Given the description of an element on the screen output the (x, y) to click on. 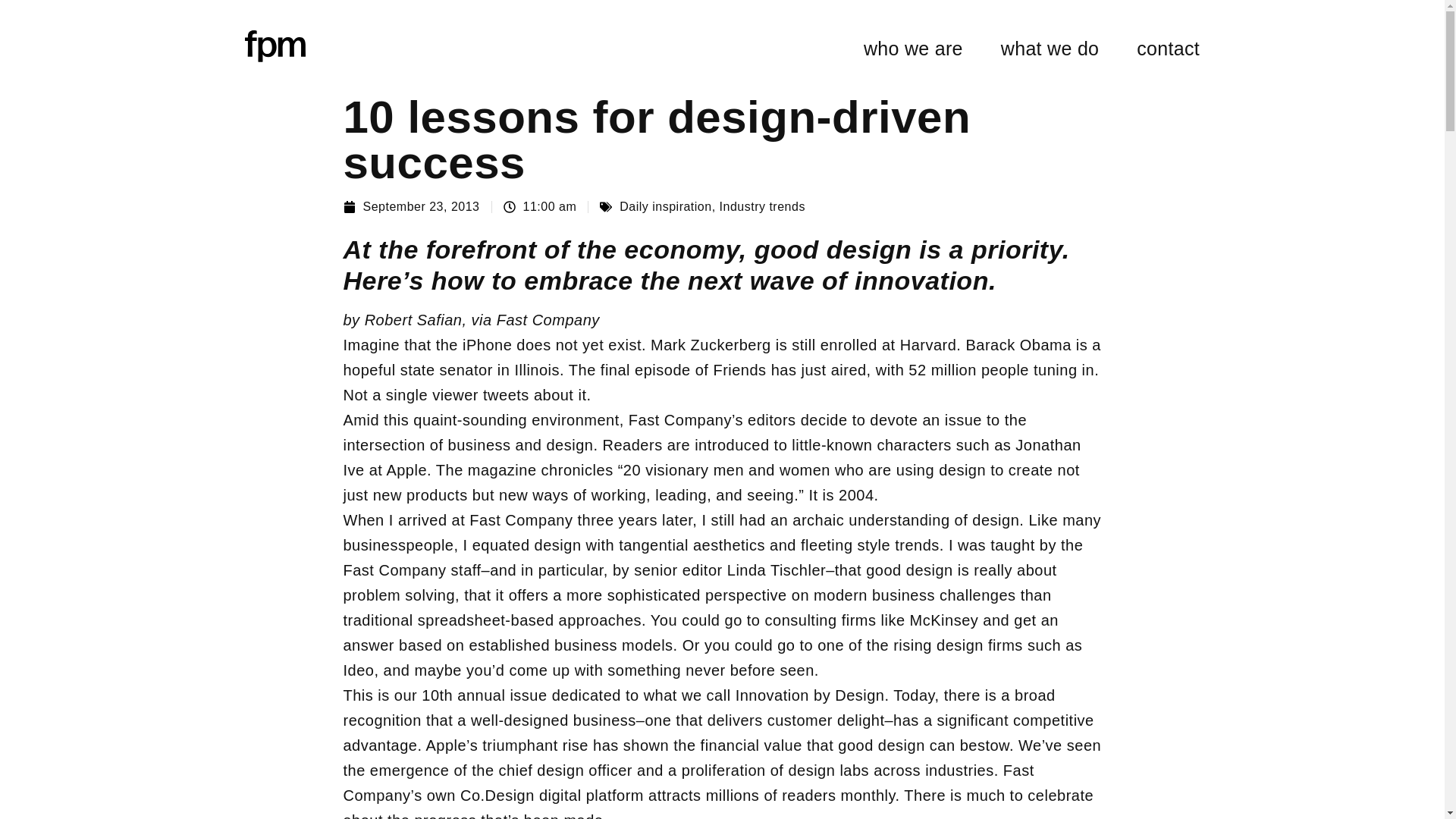
Daily inspiration (665, 205)
contact (1168, 48)
well-designed business (553, 719)
20 visionary men and women (726, 469)
who we are (912, 48)
what we do (1050, 48)
Co.Design (497, 795)
Industry trends (762, 205)
September 23, 2013 (410, 206)
Jonathan Ive (711, 457)
Apple (405, 469)
